Given the description of an element on the screen output the (x, y) to click on. 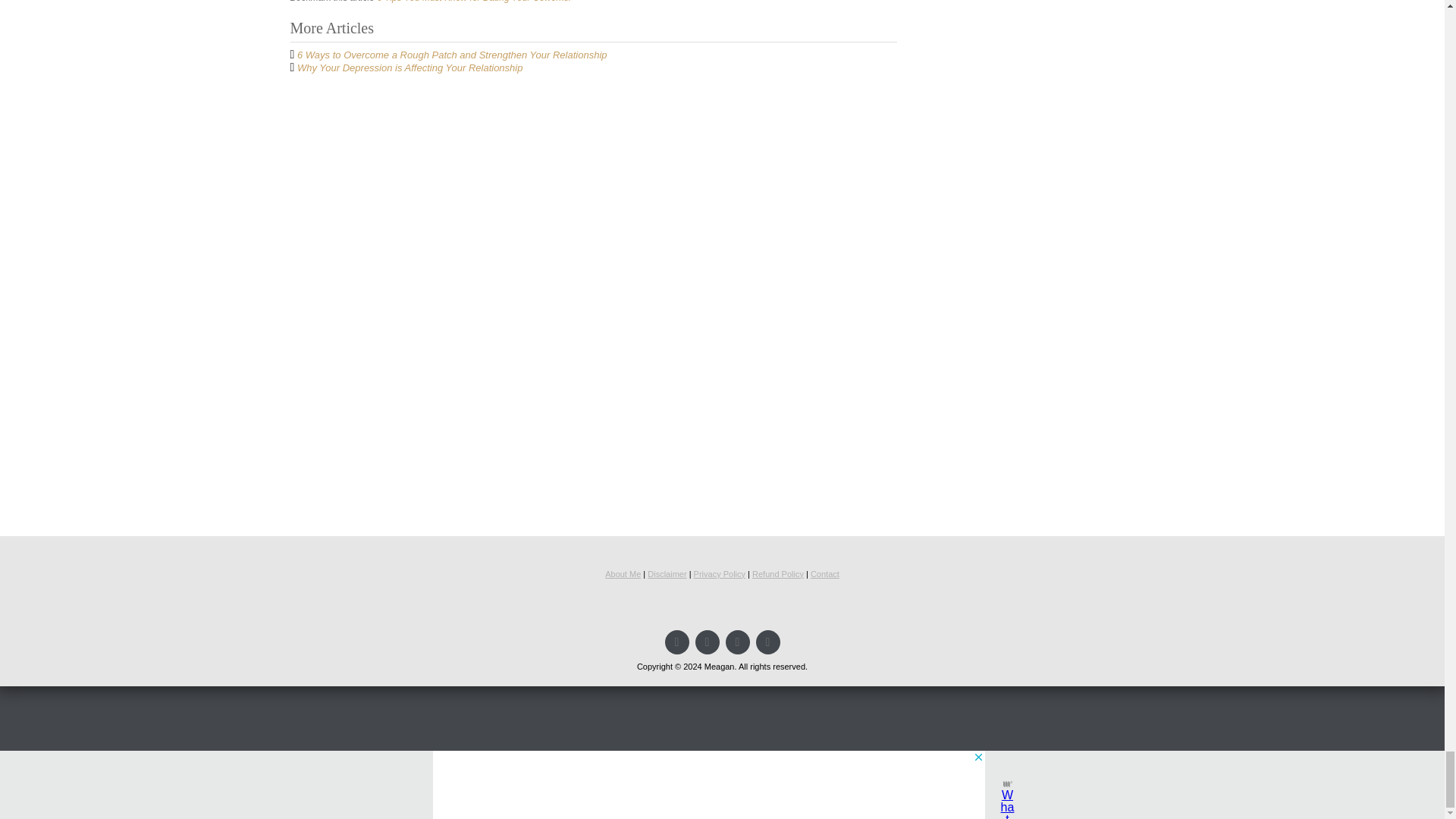
Youtube (737, 641)
Facebook (675, 641)
6 Tips You Must Know for Dating Your Coworker (474, 1)
Pinterest (706, 641)
Instagram (766, 641)
